Given the description of an element on the screen output the (x, y) to click on. 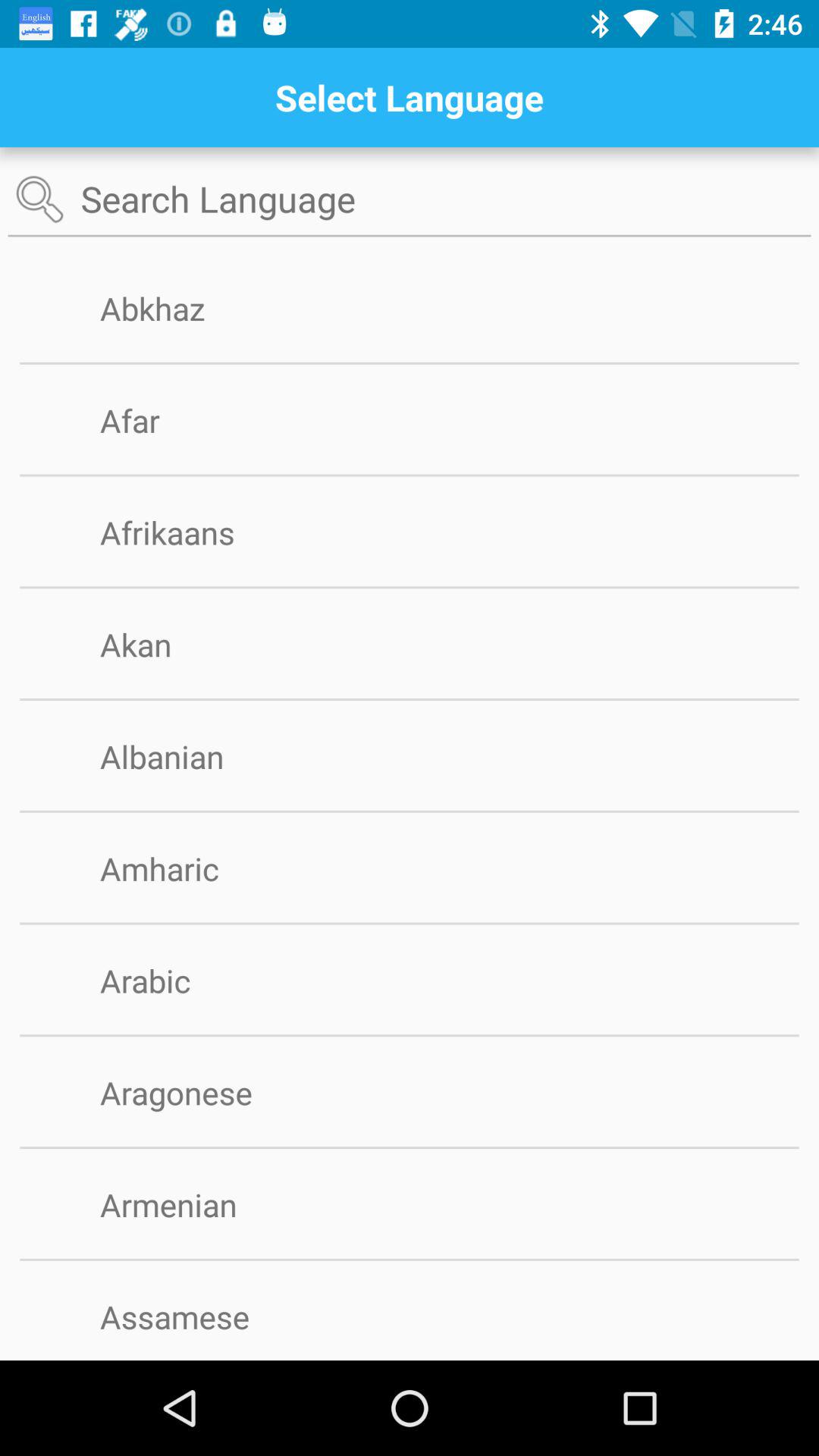
swipe to assamese item (199, 1316)
